Given the description of an element on the screen output the (x, y) to click on. 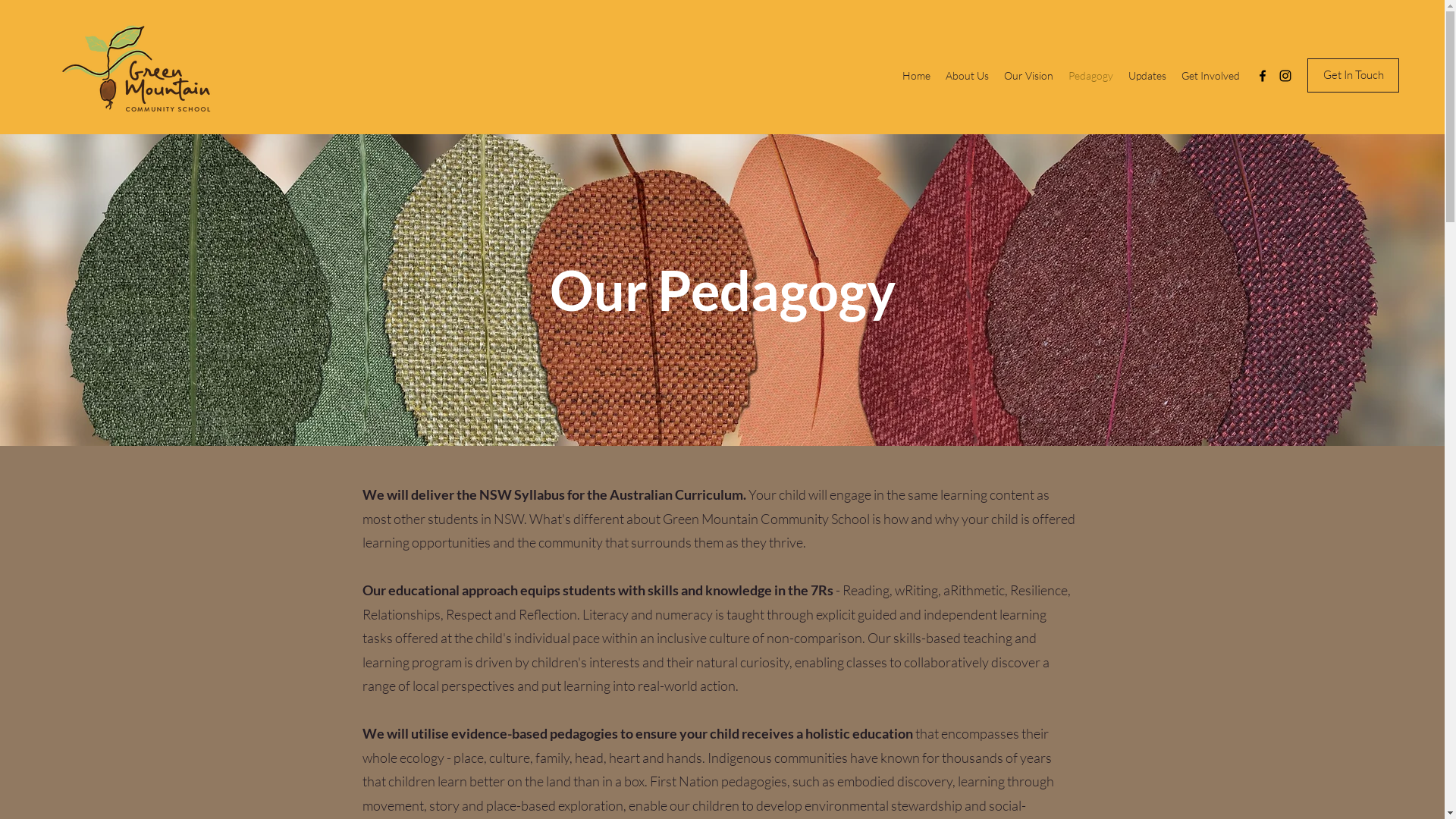
About Us Element type: text (967, 75)
Get Involved Element type: text (1210, 75)
Pedagogy Element type: text (1090, 75)
Get In Touch Element type: text (1353, 75)
Home Element type: text (916, 75)
Our Vision Element type: text (1028, 75)
Updates Element type: text (1146, 75)
